Given the description of an element on the screen output the (x, y) to click on. 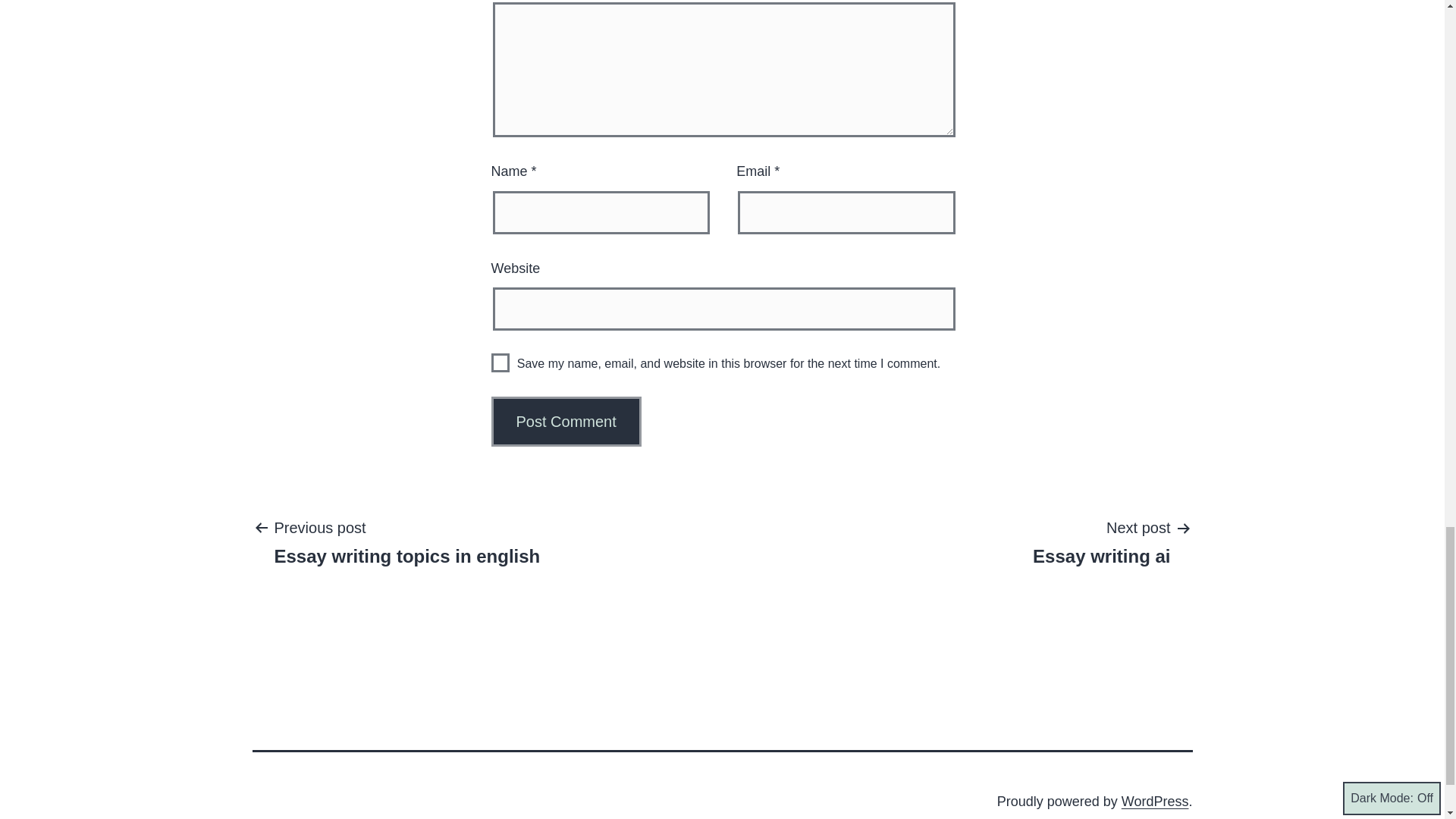
Post Comment (567, 421)
yes (1101, 541)
WordPress (500, 362)
Post Comment (1155, 801)
